Given the description of an element on the screen output the (x, y) to click on. 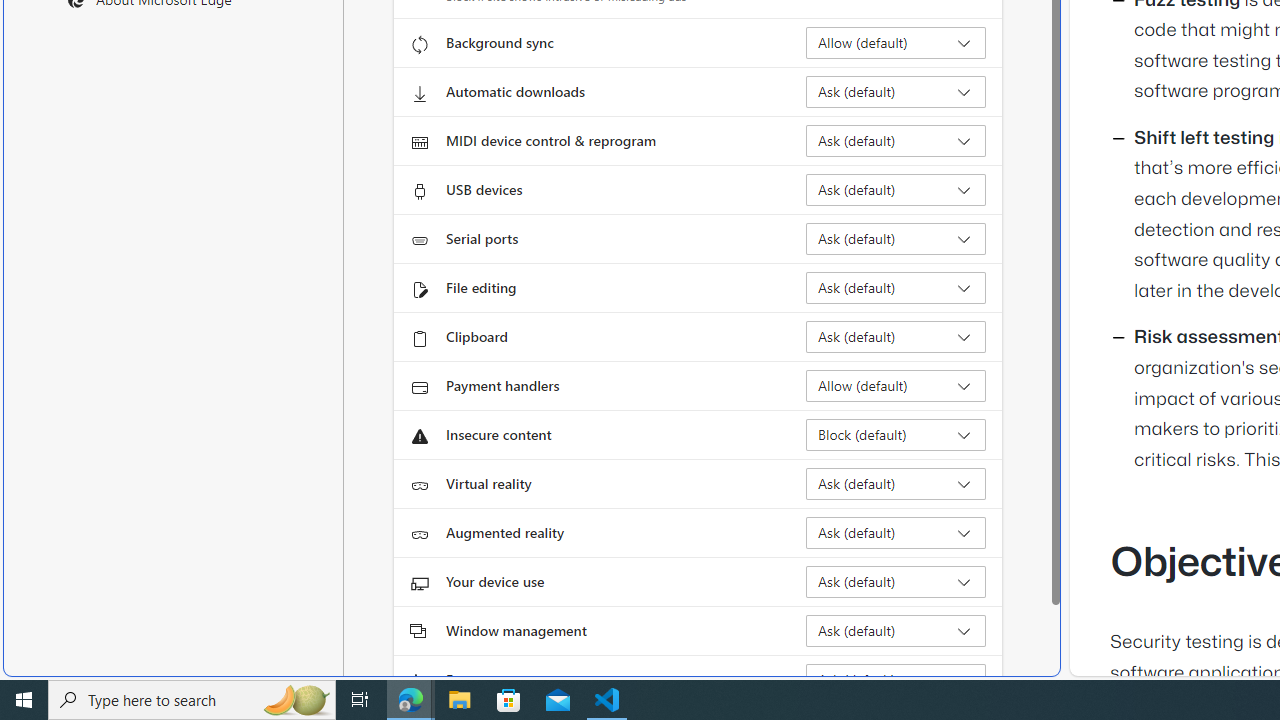
USB devices Ask (default) (895, 189)
Automatic downloads Ask (default) (895, 92)
Fonts Ask (default) (895, 679)
Clipboard Ask (default) (895, 336)
Augmented reality Ask (default) (895, 532)
Virtual reality Ask (default) (895, 483)
Background sync Allow (default) (895, 43)
Window management Ask (default) (895, 630)
Insecure content Block (default) (895, 434)
Serial ports Ask (default) (895, 238)
Payment handlers Allow (default) (895, 385)
File editing Ask (default) (895, 287)
MIDI device control & reprogram Ask (default) (895, 140)
Your device use Ask (default) (895, 581)
